Given the description of an element on the screen output the (x, y) to click on. 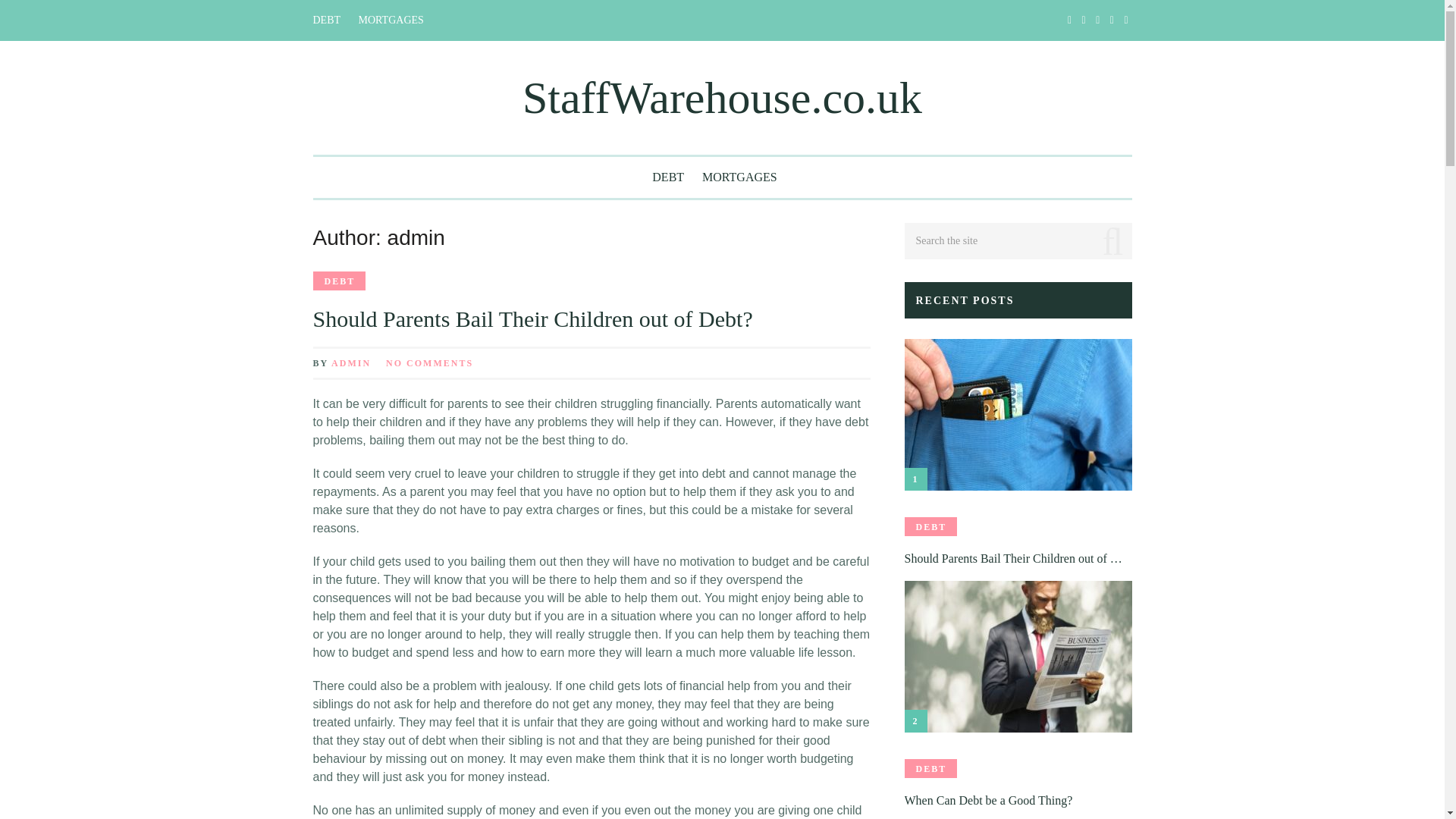
When Can Debt be a Good Thing? (1017, 800)
MORTGAGES (739, 177)
ADMIN (351, 362)
Should Parents Bail Their Children out of Debt? (532, 318)
DEBT (930, 526)
DEBT (339, 280)
Should Parents Bail Their Children out of Debt? (532, 318)
NO COMMENTS (429, 362)
View all posts in Debt (339, 280)
DEBT (930, 768)
